Given the description of an element on the screen output the (x, y) to click on. 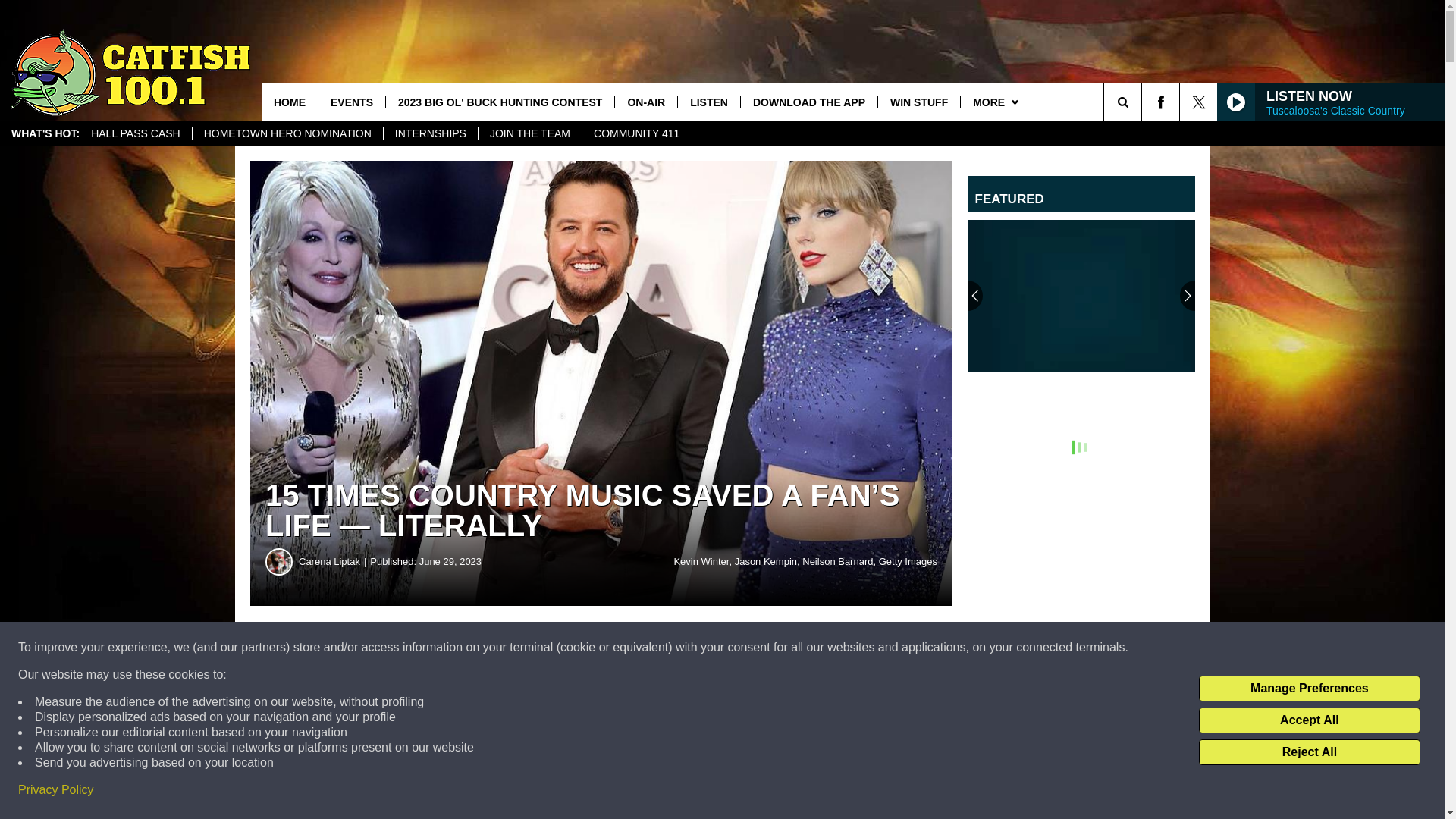
JOIN THE TEAM (528, 133)
SEARCH (1144, 102)
INTERNSHIPS (429, 133)
Manage Preferences (1309, 688)
SEARCH (1144, 102)
Reject All (1309, 751)
TWEET (741, 647)
EVENTS (351, 102)
COMMUNITY 411 (635, 133)
HOME (289, 102)
SHARE (460, 647)
Privacy Policy (55, 789)
WIN STUFF (918, 102)
HOMETOWN HERO NOMINATION (287, 133)
Accept All (1309, 720)
